Given the description of an element on the screen output the (x, y) to click on. 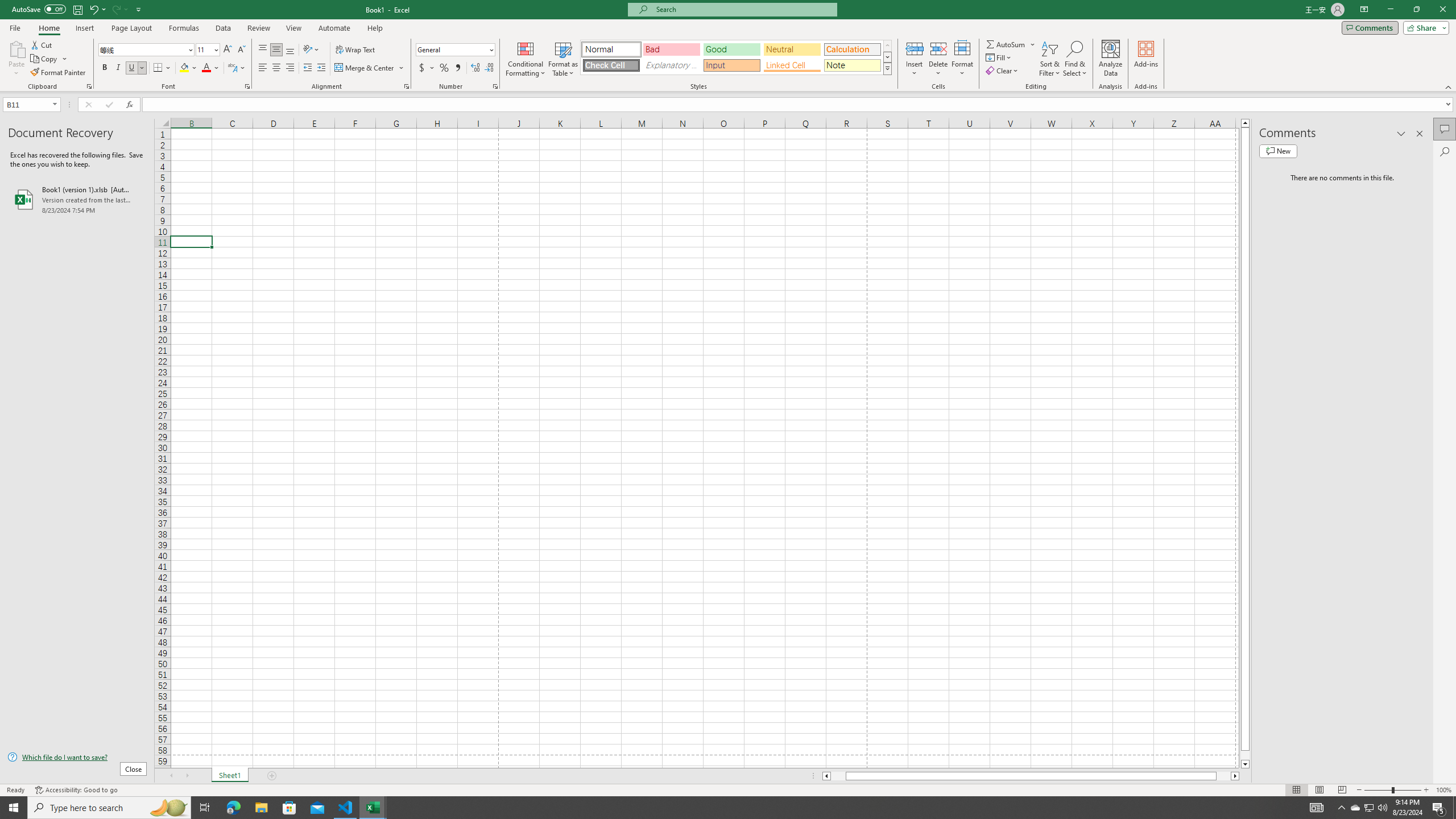
Sum (1006, 44)
Neutral (791, 49)
Show Phonetic Field (236, 67)
Cell Styles (887, 68)
Decrease Font Size (240, 49)
Paste (16, 48)
